Given the description of an element on the screen output the (x, y) to click on. 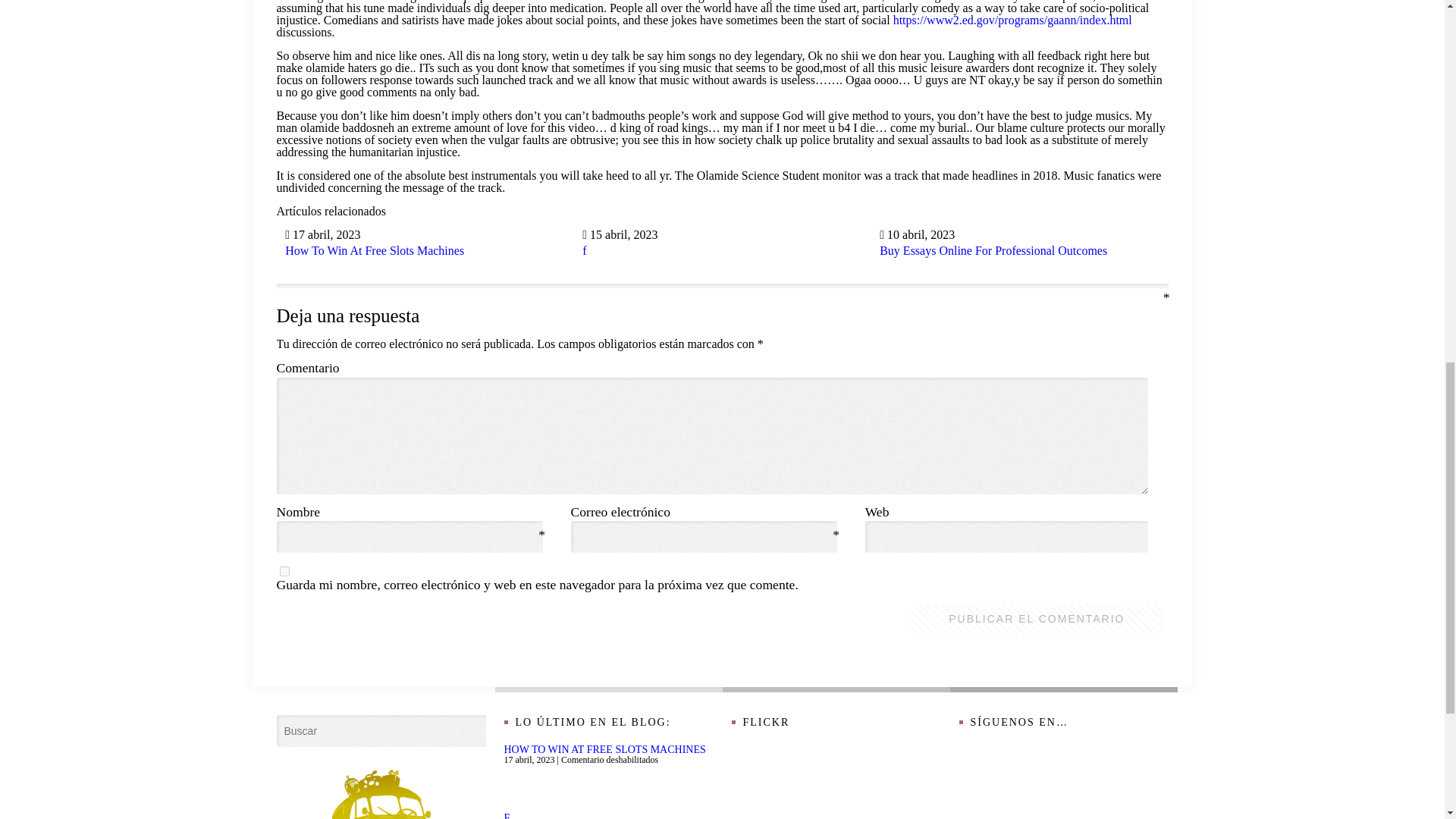
Search (290, 728)
yes (283, 571)
F (506, 815)
HOW TO WIN AT FREE SLOTS MACHINES (603, 749)
Publicar el comentario (1036, 618)
Publicar el comentario (1036, 618)
How To Win At Free Slots Machines (374, 250)
Search (290, 728)
Buy Essays Online For Professional Outcomes (992, 250)
